Given the description of an element on the screen output the (x, y) to click on. 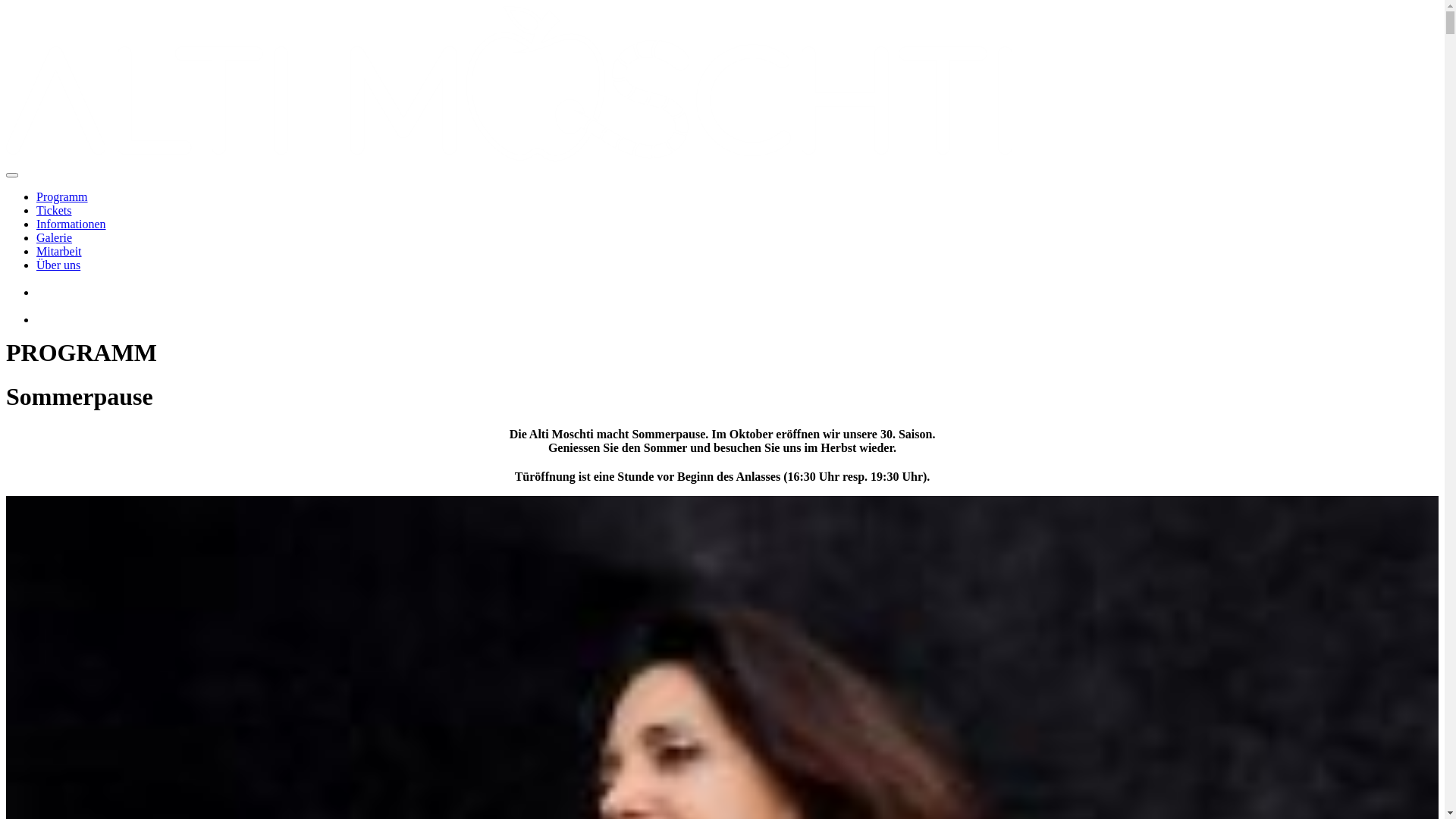
Instagram Element type: hover (48, 284)
Informationen Element type: text (71, 223)
Tickets Element type: text (54, 209)
Alti Moschti Element type: hover (509, 83)
Facebook Element type: hover (48, 311)
Galerie Element type: text (54, 237)
Mitarbeit Element type: text (58, 250)
Programm Element type: text (61, 196)
